Given the description of an element on the screen output the (x, y) to click on. 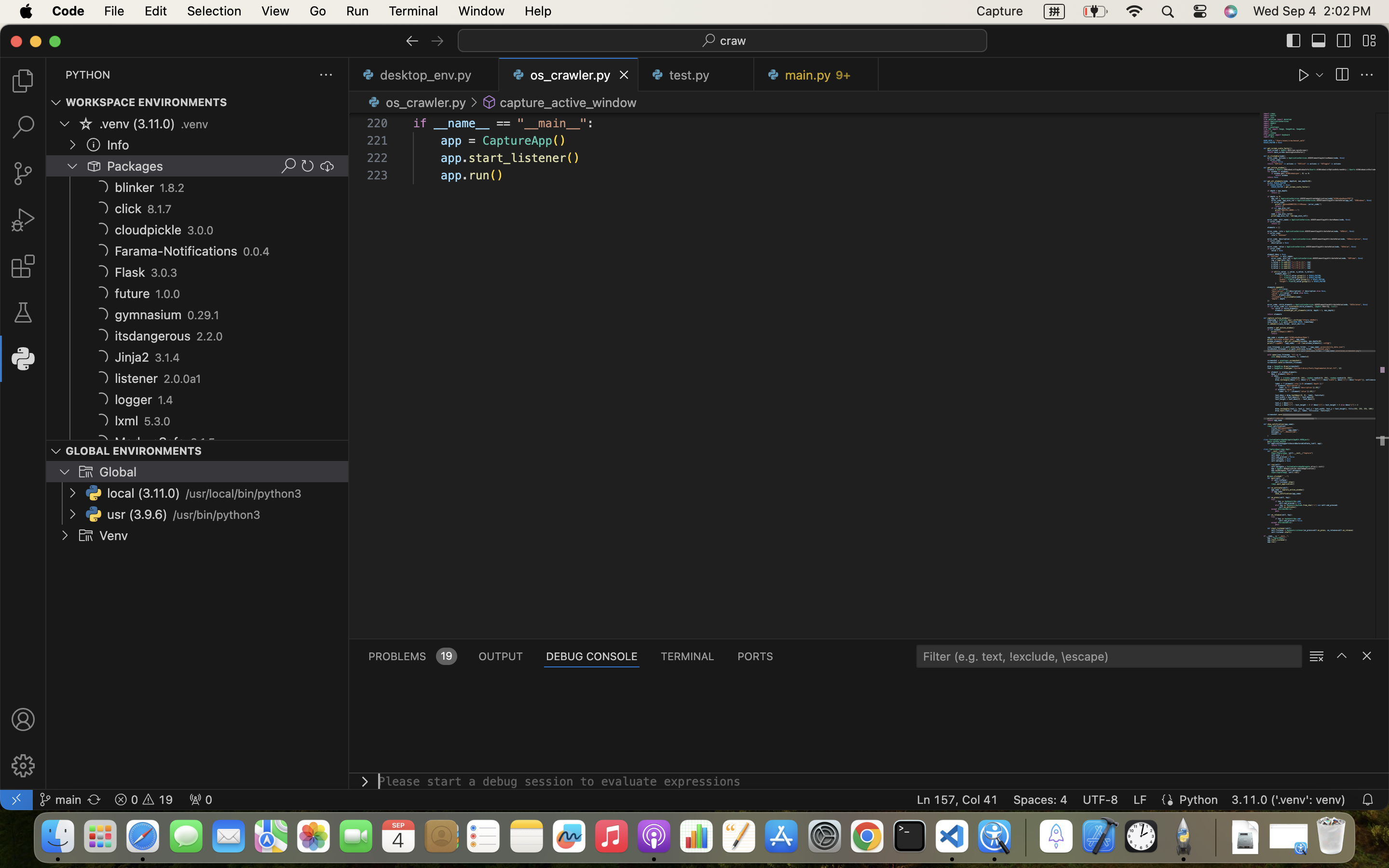
Global Element type: AXStaticText (117, 471)
0 test.py   Element type: AXRadioButton (696, 74)
Farama-Notifications Element type: AXStaticText (176, 251)
0.4285714328289032 Element type: AXDockItem (1024, 836)
0  Element type: AXRadioButton (23, 312)
